Given the description of an element on the screen output the (x, y) to click on. 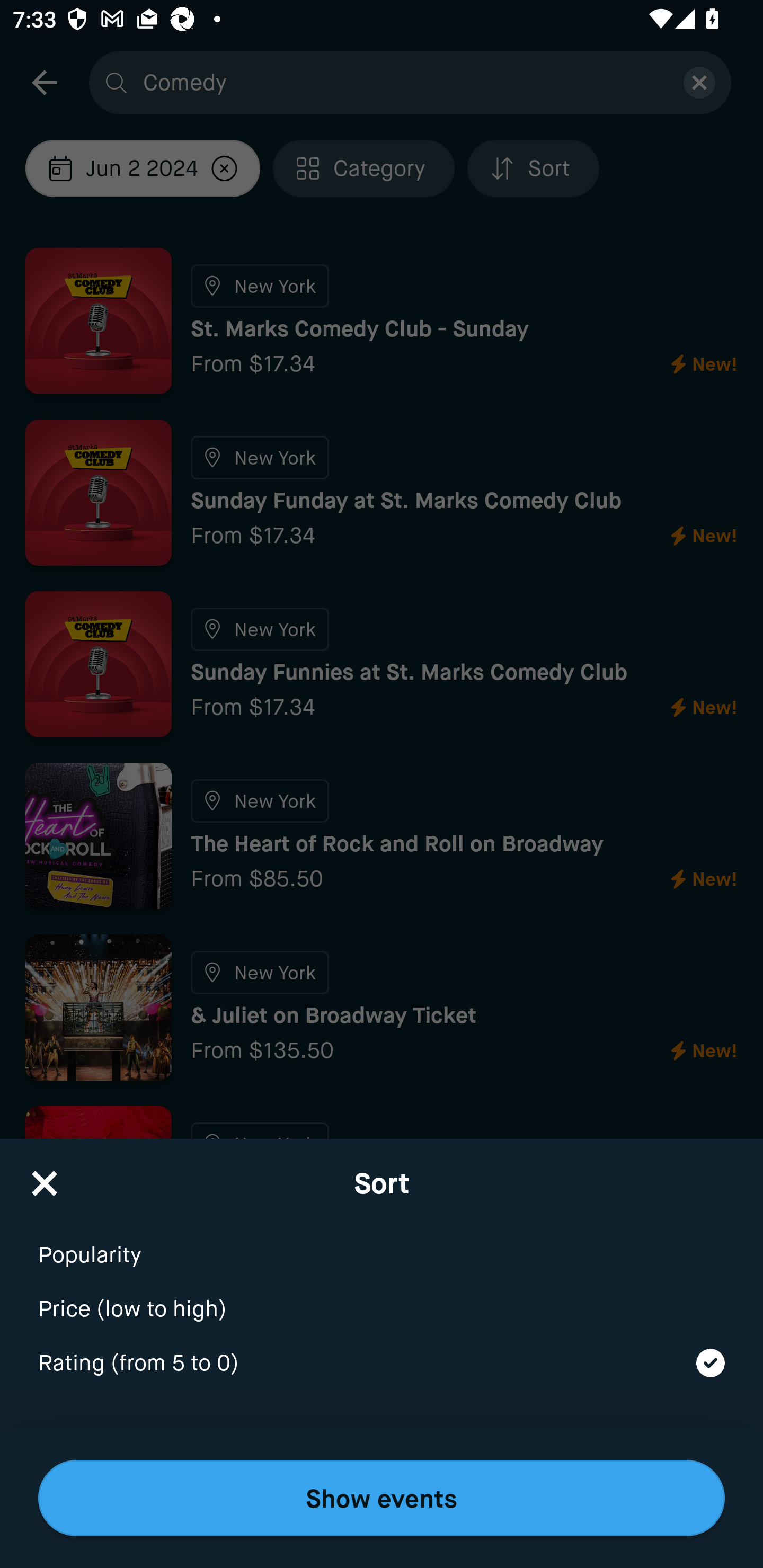
CloseButton (44, 1177)
Popularity (381, 1243)
Price (low to high) (381, 1297)
Rating (from 5 to 0) Selected Icon (381, 1362)
Show events (381, 1497)
